Given the description of an element on the screen output the (x, y) to click on. 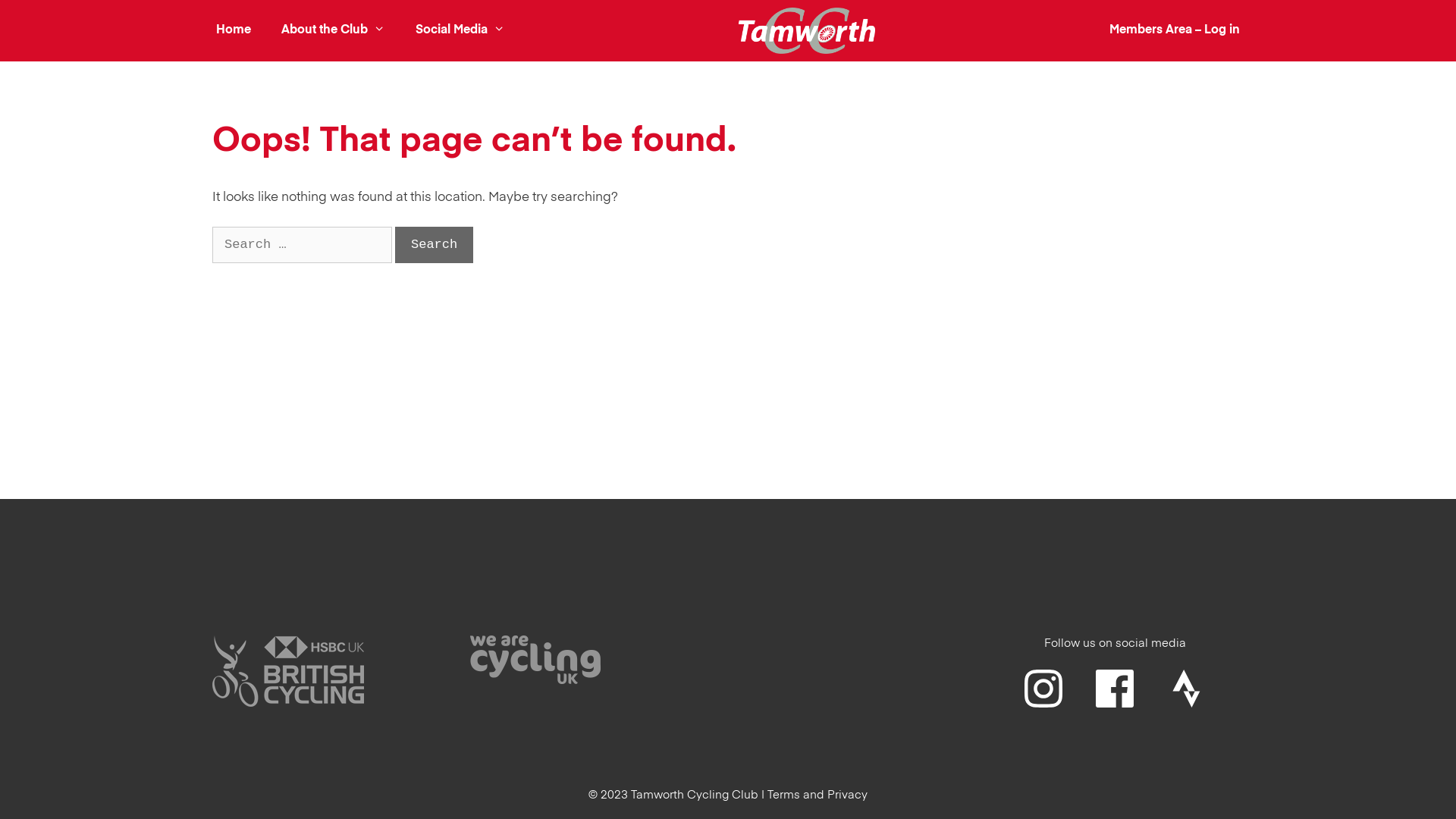
Tamworth Cycling Club Element type: hover (806, 30)
Terms and Privacy Element type: text (817, 794)
Social Media Element type: text (460, 30)
Search for: Element type: hover (302, 244)
Home Element type: text (233, 30)
Tamworth Cycling Club Element type: hover (806, 30)
Search Element type: text (434, 244)
About the Club Element type: text (333, 30)
